Given the description of an element on the screen output the (x, y) to click on. 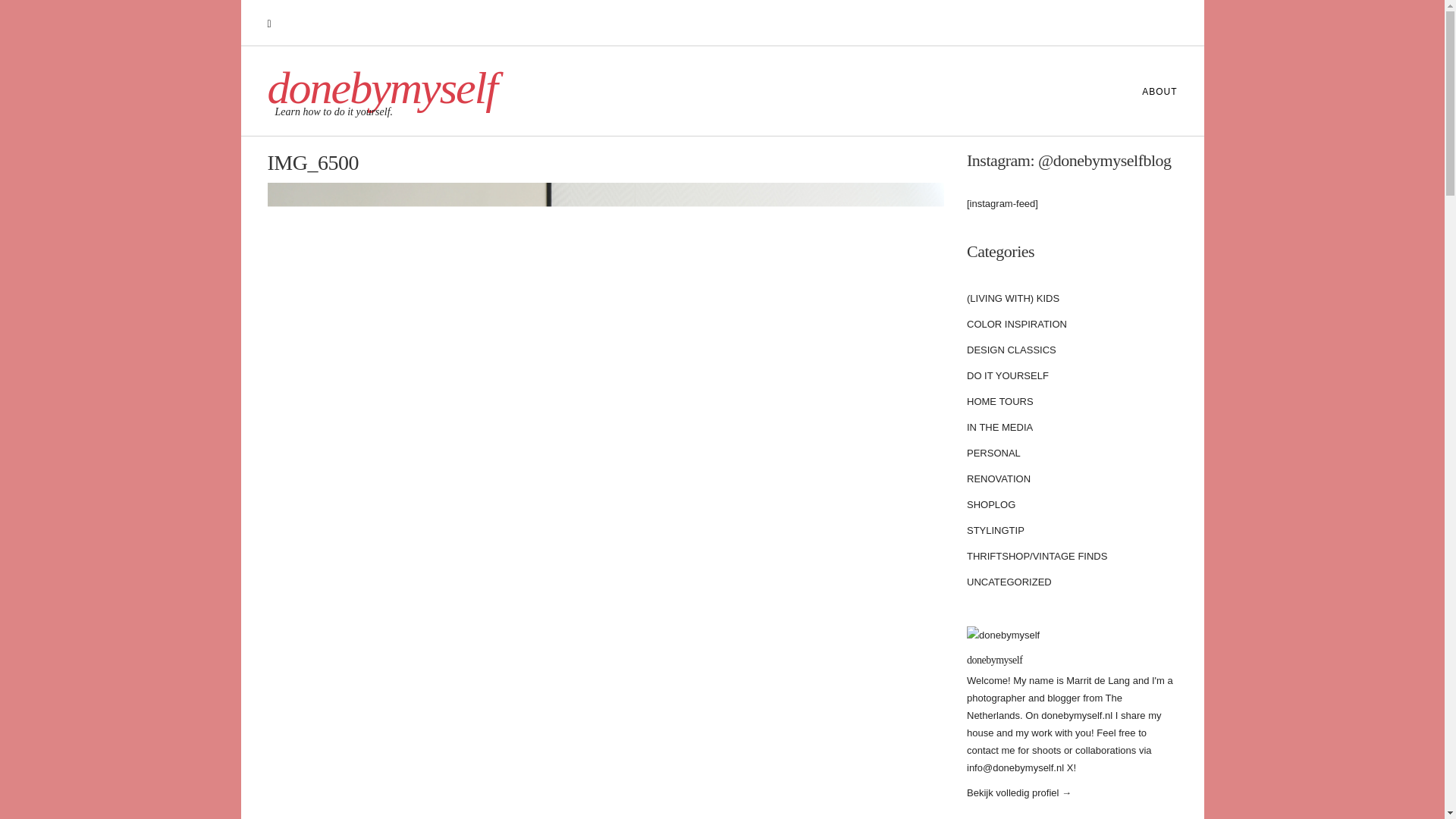
ABOUT (1151, 91)
DO IT YOURSELF (1007, 376)
donebymyself (994, 659)
HOME TOURS (999, 401)
SHOPLOG (990, 504)
STYLINGTIP (995, 530)
IN THE MEDIA (999, 427)
PERSONAL (993, 453)
DESIGN CLASSICS (1011, 350)
COLOR INSPIRATION (1016, 324)
RENOVATION (998, 479)
donebymyself (381, 88)
UNCATEGORIZED (1008, 582)
